Given the description of an element on the screen output the (x, y) to click on. 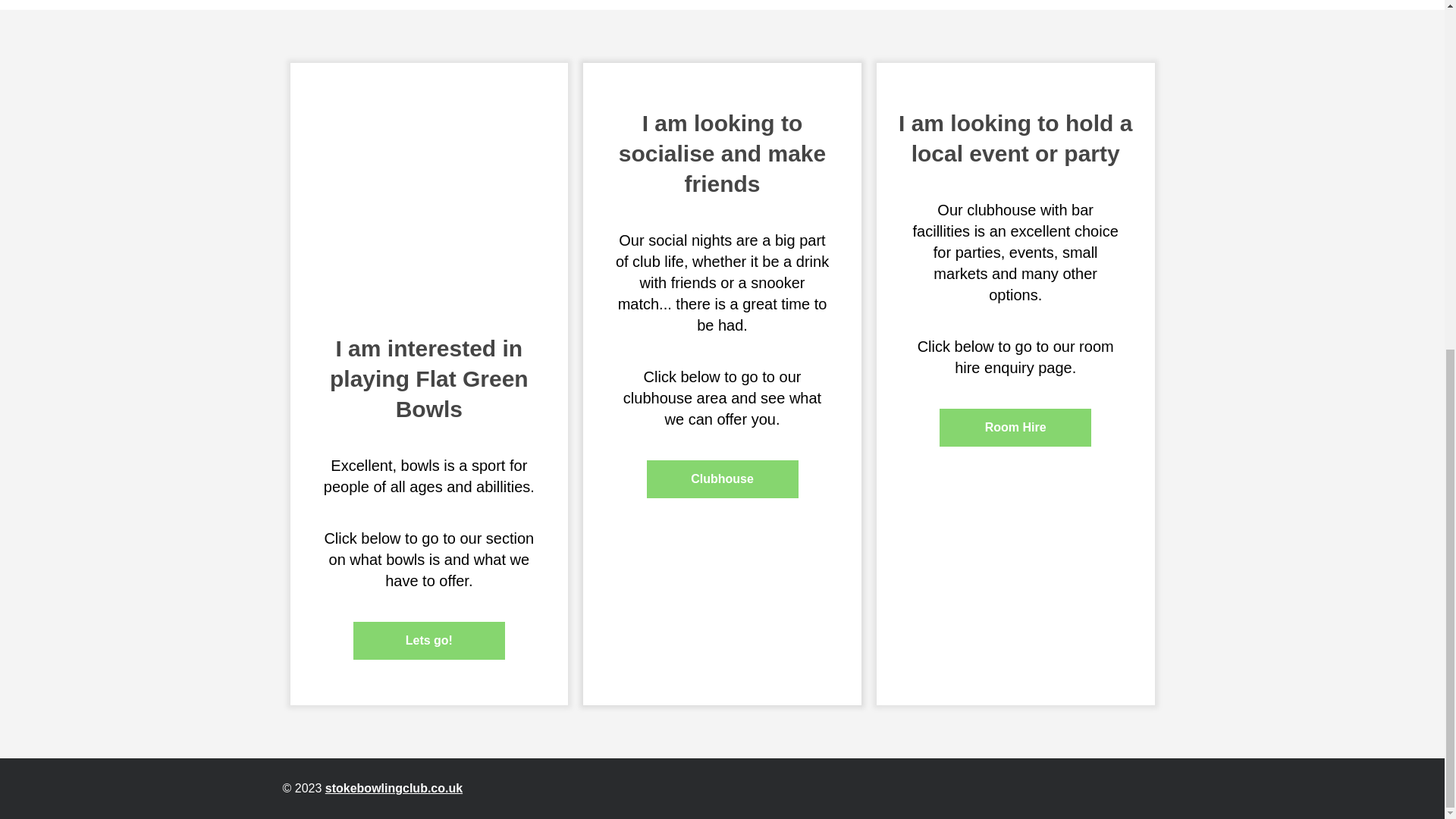
Lets go! (429, 640)
Clubhouse (721, 478)
stokebowlingclub.co.uk (393, 788)
Room Hire (1014, 427)
